Given the description of an element on the screen output the (x, y) to click on. 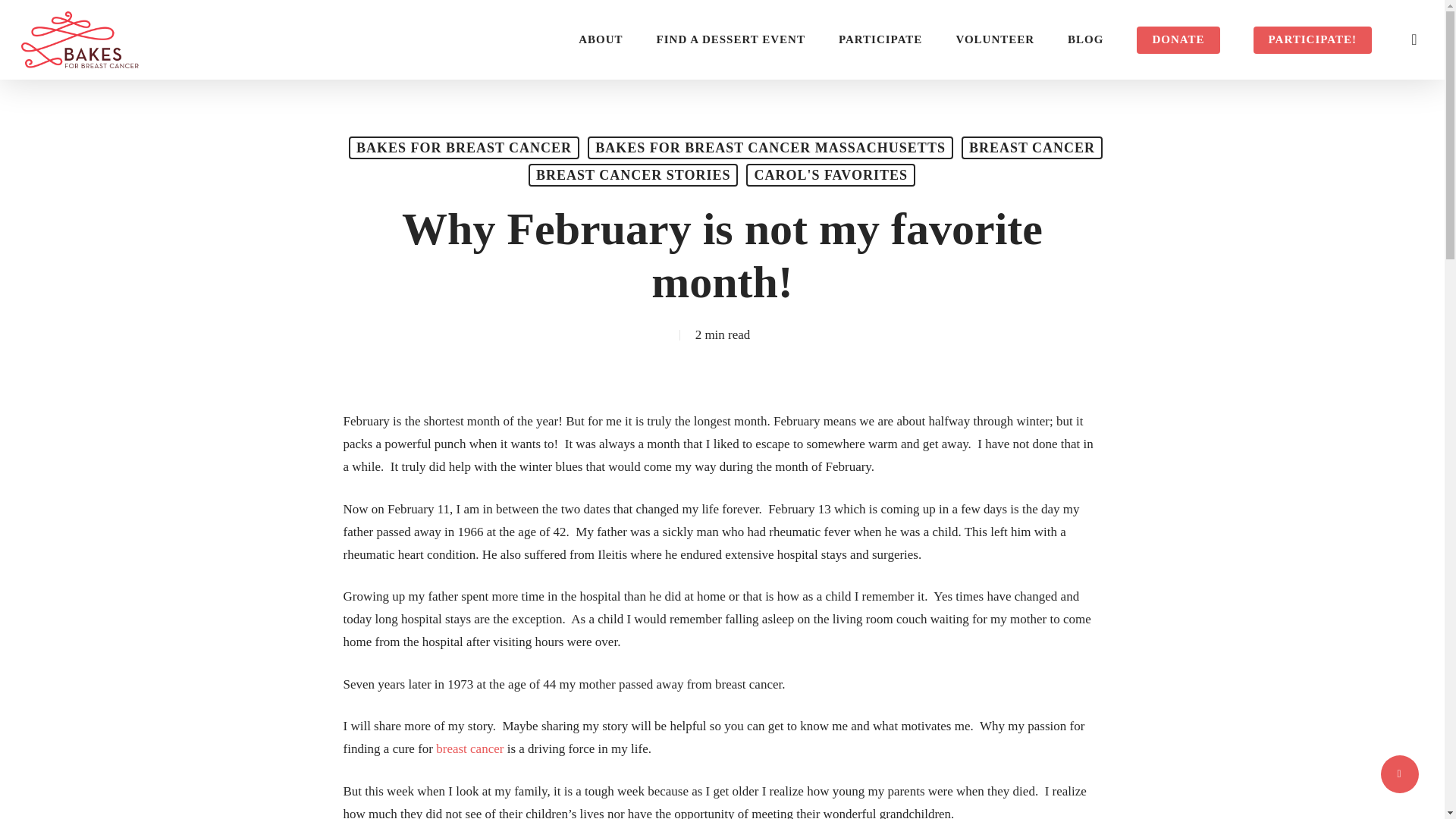
DONATE (1178, 39)
PARTICIPATE! (1312, 39)
search (1414, 39)
BLOG (1085, 39)
FIND A DESSERT EVENT (730, 39)
PARTICIPATE (879, 39)
BAKES FOR BREAST CANCER MASSACHUSETTS (770, 147)
ABOUT (600, 39)
BAKES FOR BREAST CANCER (464, 147)
VOLUNTEER (994, 39)
